Given the description of an element on the screen output the (x, y) to click on. 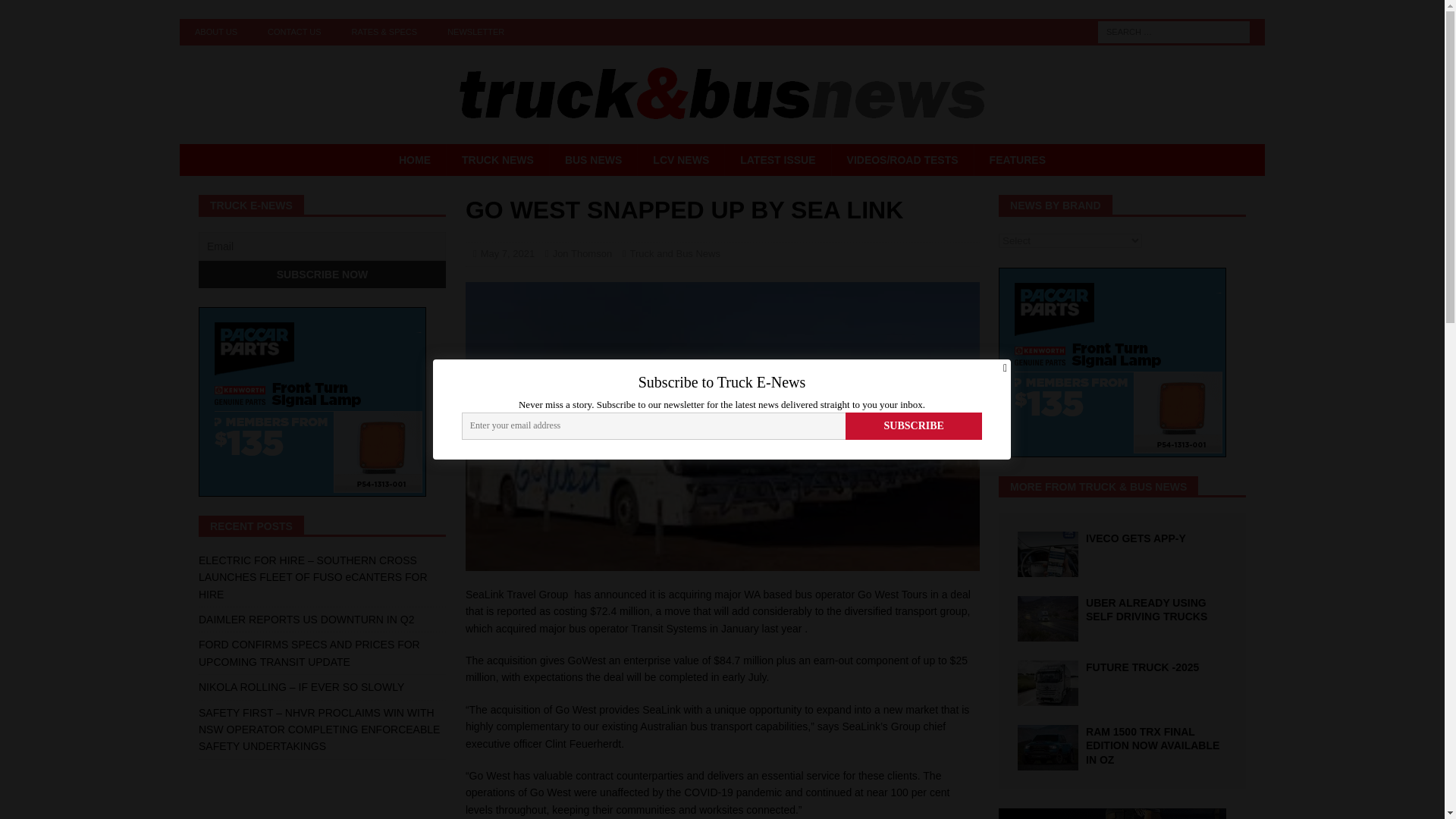
LATEST ISSUE (776, 160)
FEATURES (1017, 160)
ABOUT US (215, 31)
TRUCK NEWS (496, 160)
May 7, 2021 (507, 253)
SUBSCRIBE (913, 425)
CONTACT US (293, 31)
BUS NEWS (592, 160)
LCV NEWS (680, 160)
NEWSLETTER (475, 31)
HOME (414, 160)
Truck and Bus News (675, 253)
Subscribe Now (321, 274)
Jon Thomson (582, 253)
